Given the description of an element on the screen output the (x, y) to click on. 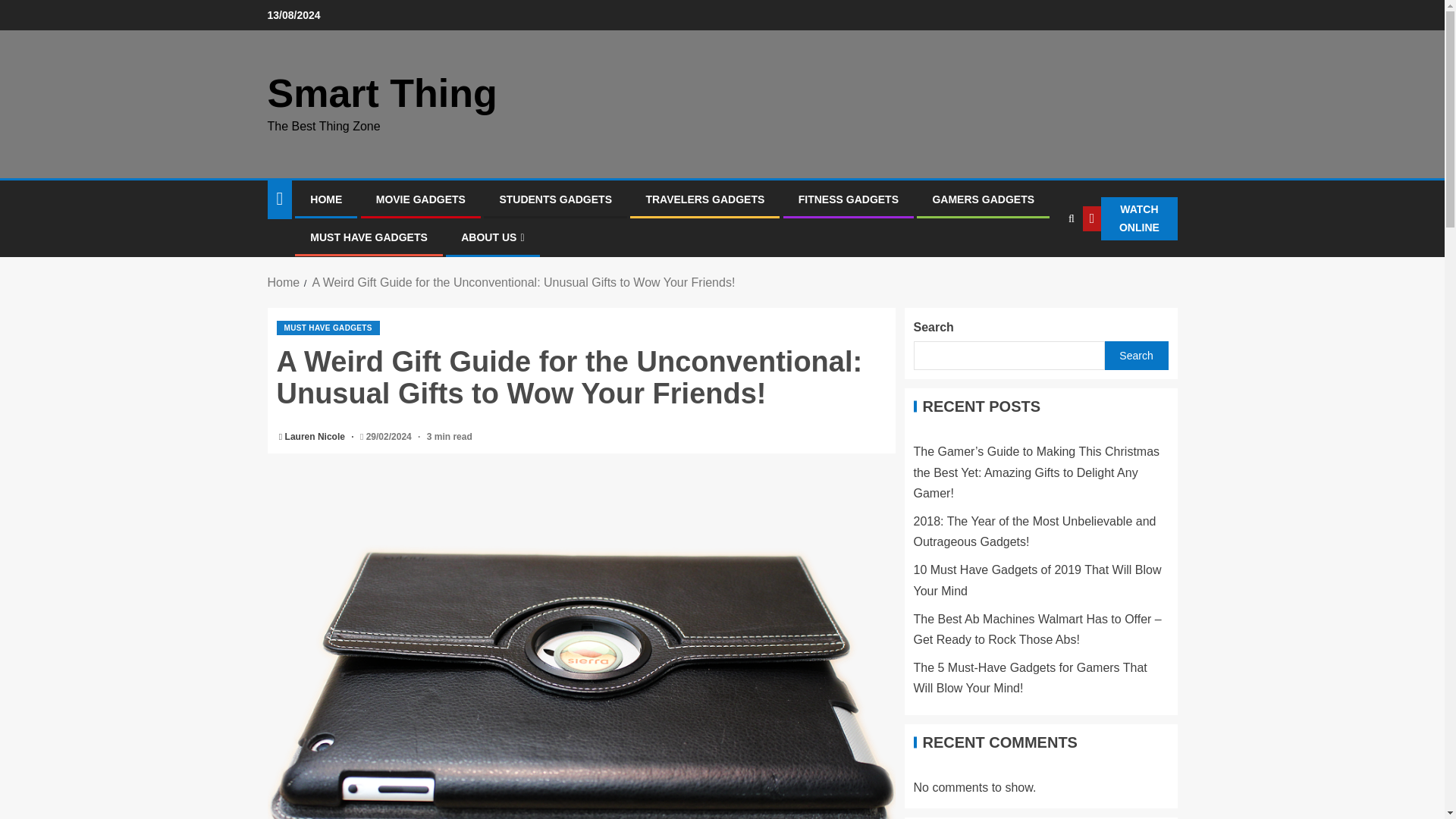
STUDENTS GADGETS (555, 199)
WATCH ONLINE (1130, 218)
ABOUT US (492, 236)
HOME (326, 199)
Smart Thing (381, 93)
MOVIE GADGETS (420, 199)
Lauren Nicole (316, 436)
Home (282, 282)
TRAVELERS GADGETS (704, 199)
